Given the description of an element on the screen output the (x, y) to click on. 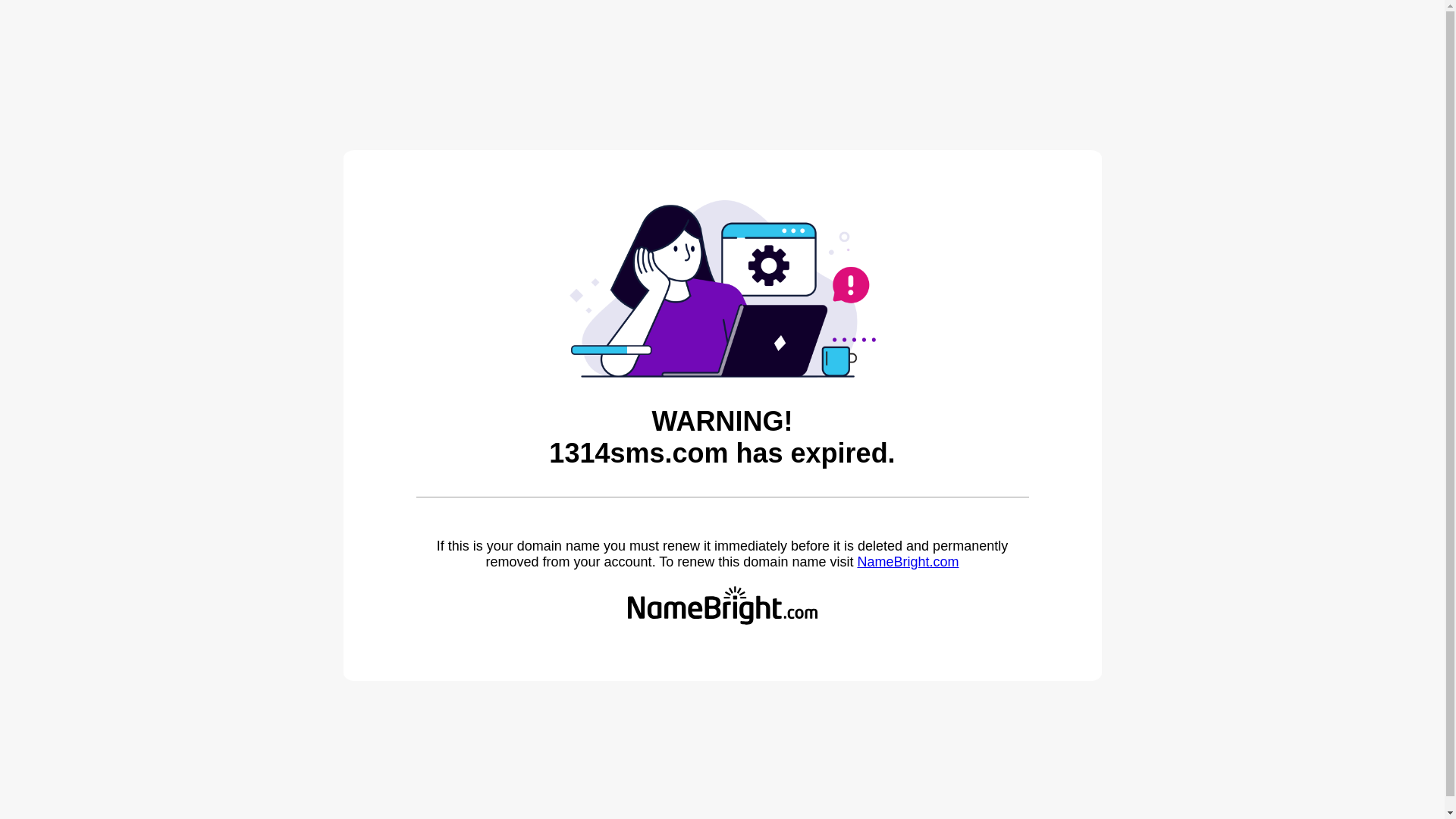
NameBright.com Element type: text (907, 561)
